Given the description of an element on the screen output the (x, y) to click on. 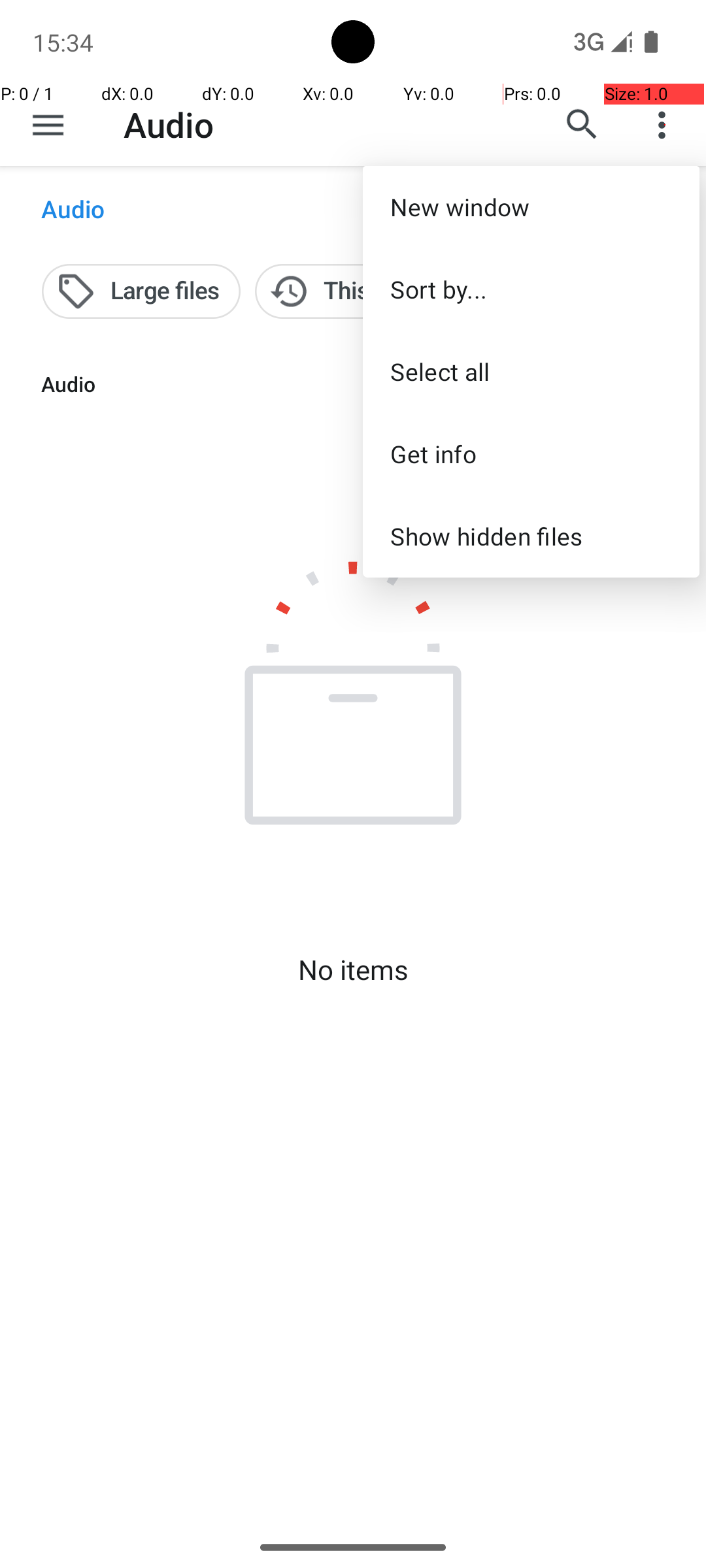
New window Element type: android.widget.TextView (531, 206)
Sort by... Element type: android.widget.TextView (531, 288)
Select all Element type: android.widget.TextView (531, 371)
Get info Element type: android.widget.TextView (531, 453)
Show hidden files Element type: android.widget.TextView (531, 535)
